Given the description of an element on the screen output the (x, y) to click on. 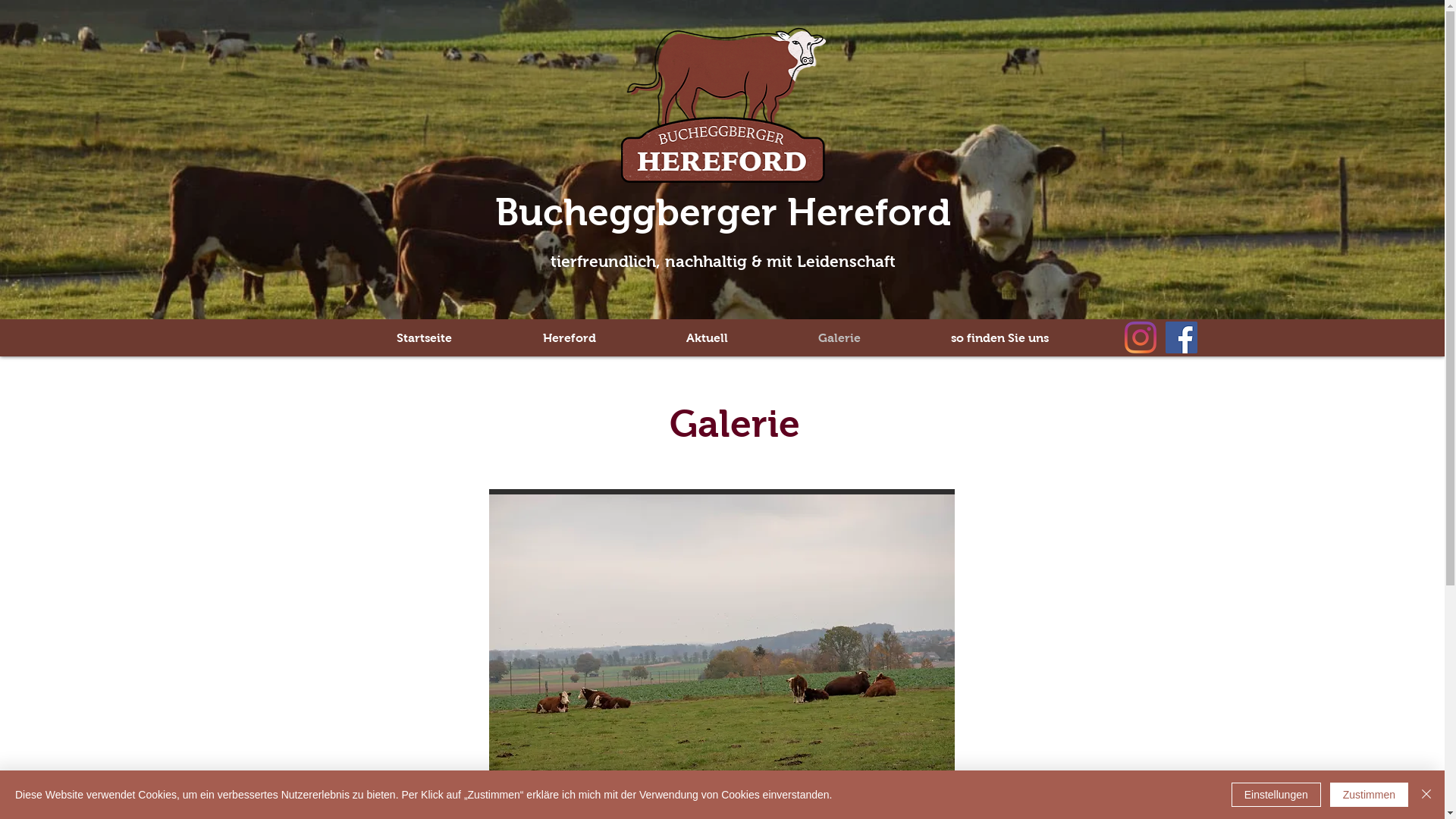
Einstellungen Element type: text (1276, 794)
Hereford Element type: text (569, 337)
Galerie Element type: text (839, 337)
Aktuell Element type: text (707, 337)
so finden Sie uns Element type: text (999, 337)
Zustimmen Element type: text (1369, 794)
Startseite Element type: text (423, 337)
